Given the description of an element on the screen output the (x, y) to click on. 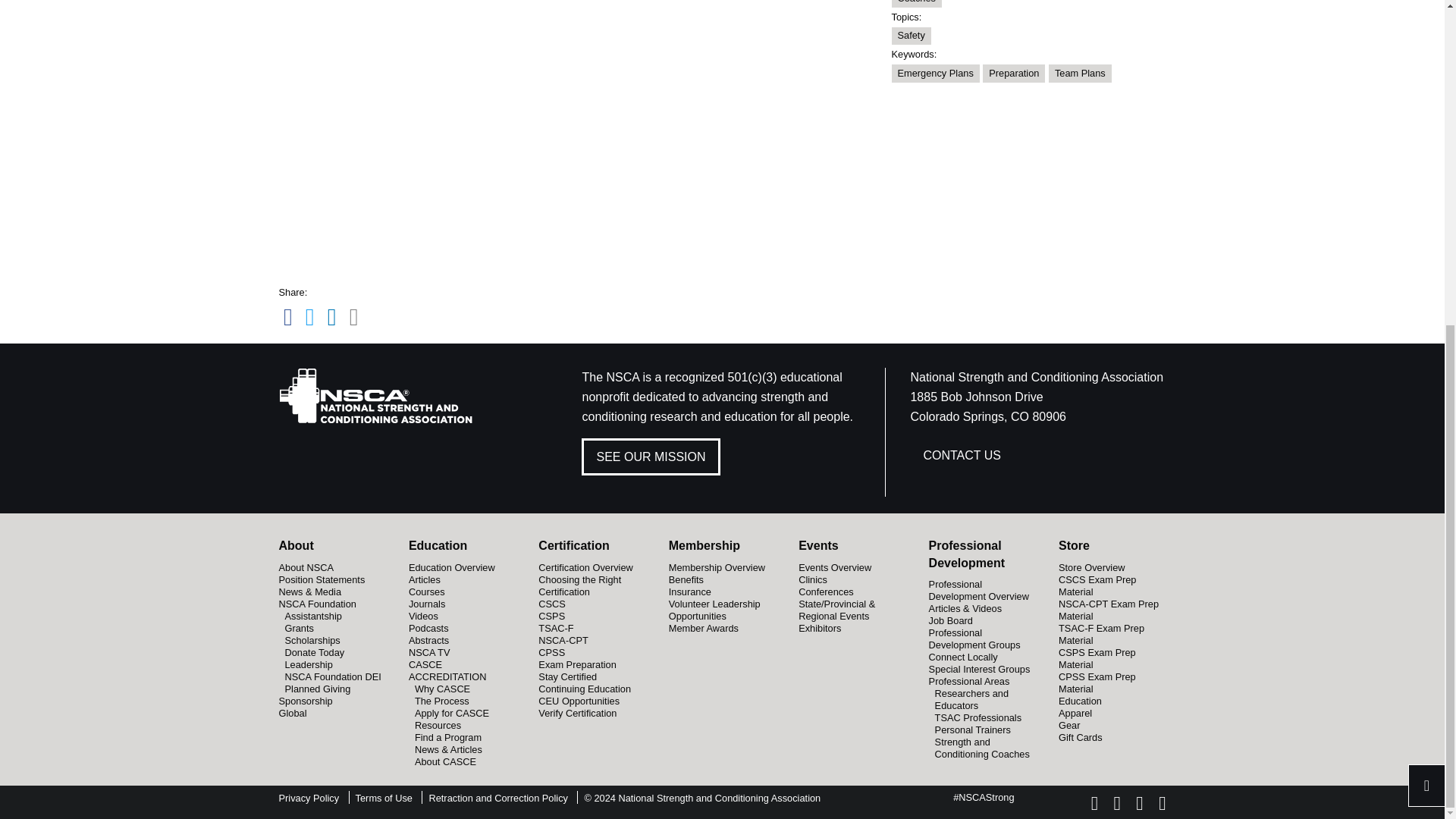
Position Statements (322, 578)
NSCA Foundation (317, 603)
About NSCA (306, 566)
